Given the description of an element on the screen output the (x, y) to click on. 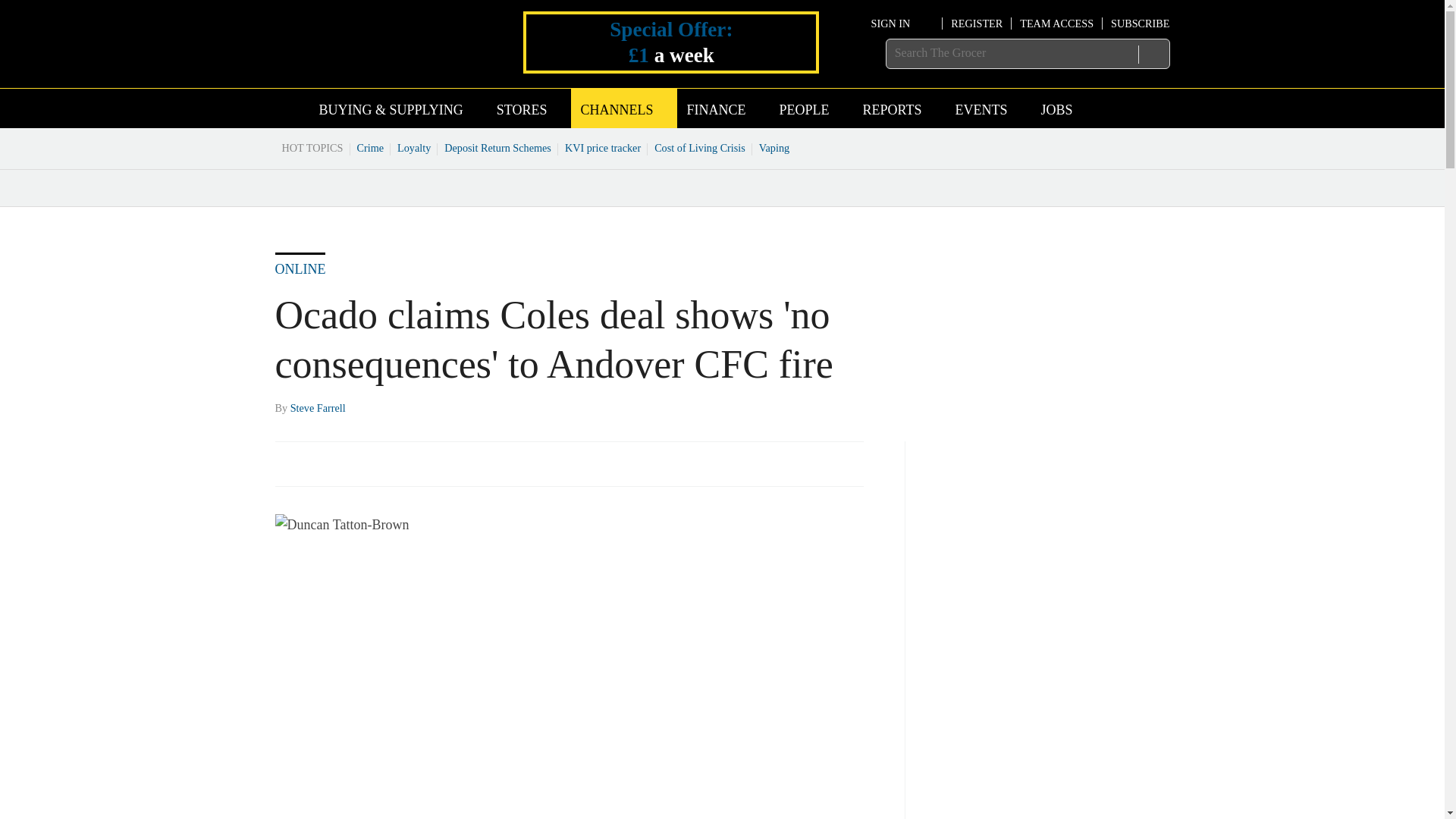
Email this article (386, 462)
No comments (840, 472)
Crime (370, 147)
TEAM ACCESS (1056, 23)
REGISTER (976, 23)
Vaping (774, 147)
SUBSCRIBE (1139, 23)
Share this on Twitter (320, 462)
SEARCH (1153, 53)
Cost of Living Crisis (699, 147)
